Given the description of an element on the screen output the (x, y) to click on. 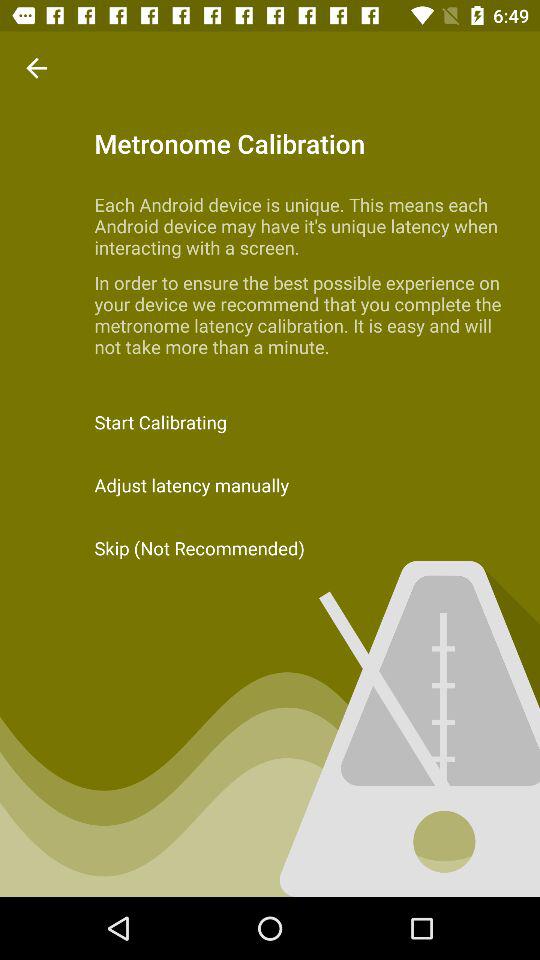
swipe to start calibrating (270, 421)
